Given the description of an element on the screen output the (x, y) to click on. 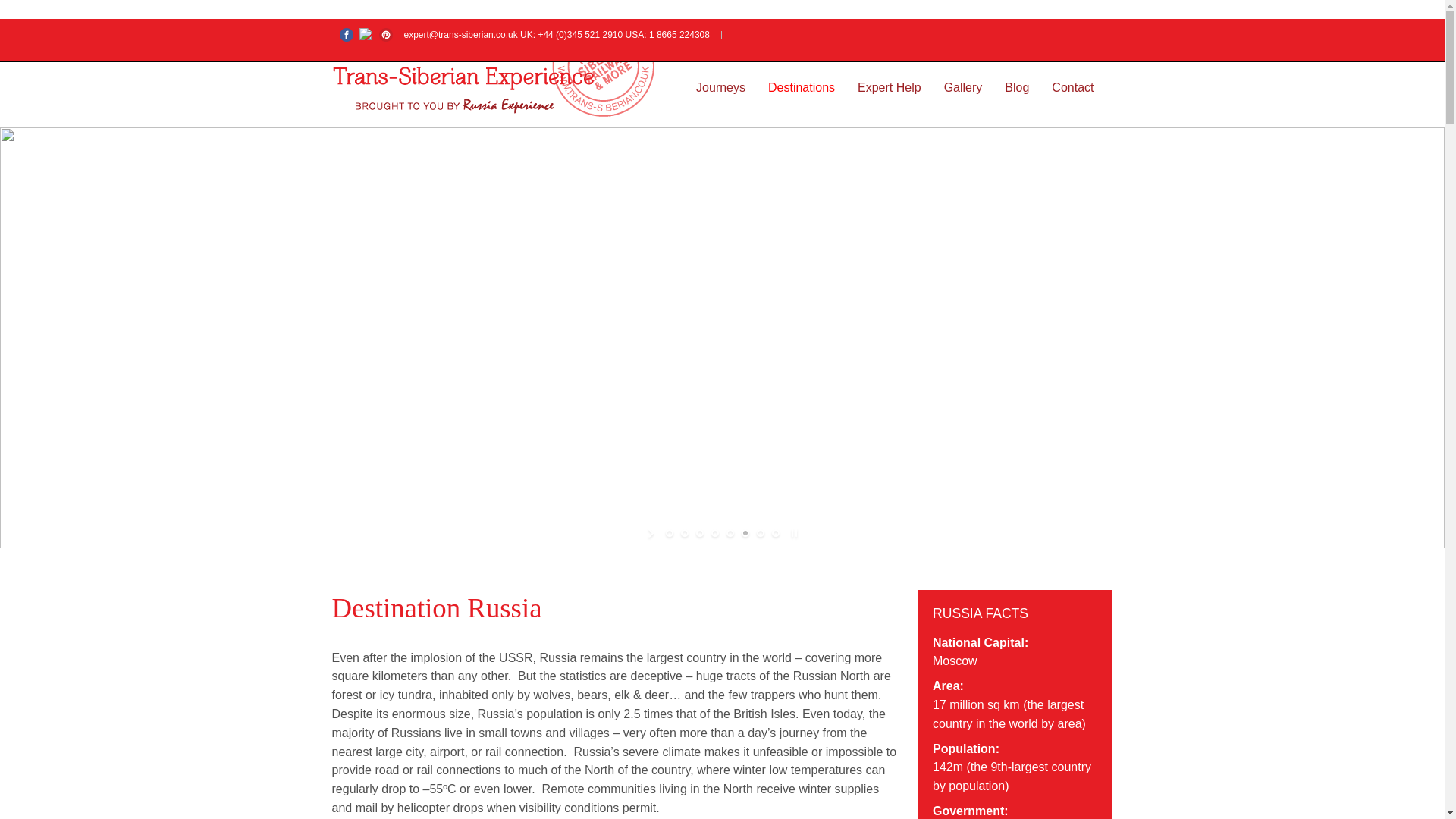
Destinations (801, 87)
1 8665 224308 (679, 34)
Journeys (720, 87)
